Given the description of an element on the screen output the (x, y) to click on. 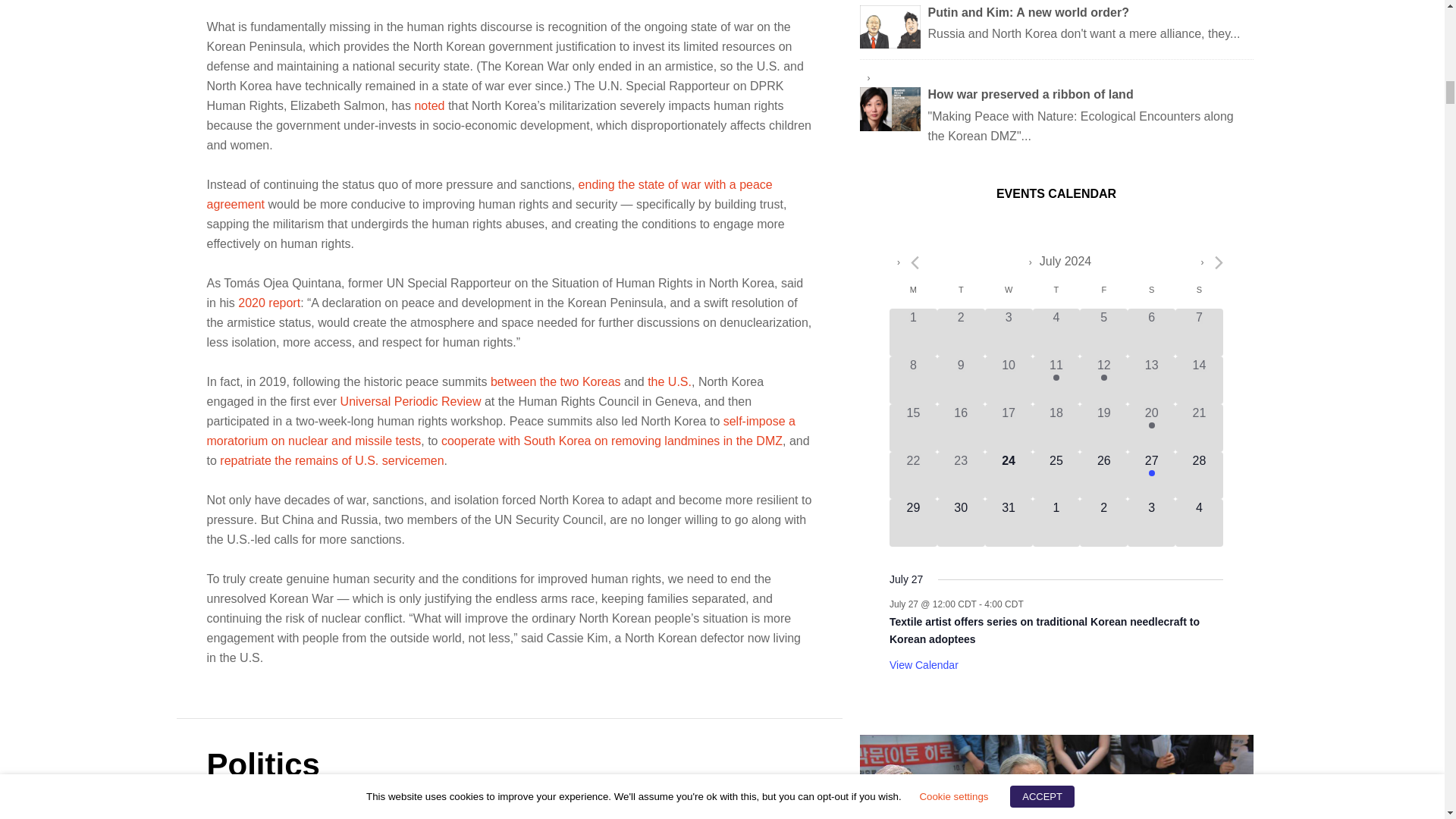
Has events (1103, 377)
Has events (1151, 472)
Previous month (914, 262)
Has events (1055, 377)
Has events (1151, 425)
Next month (1218, 262)
